Given the description of an element on the screen output the (x, y) to click on. 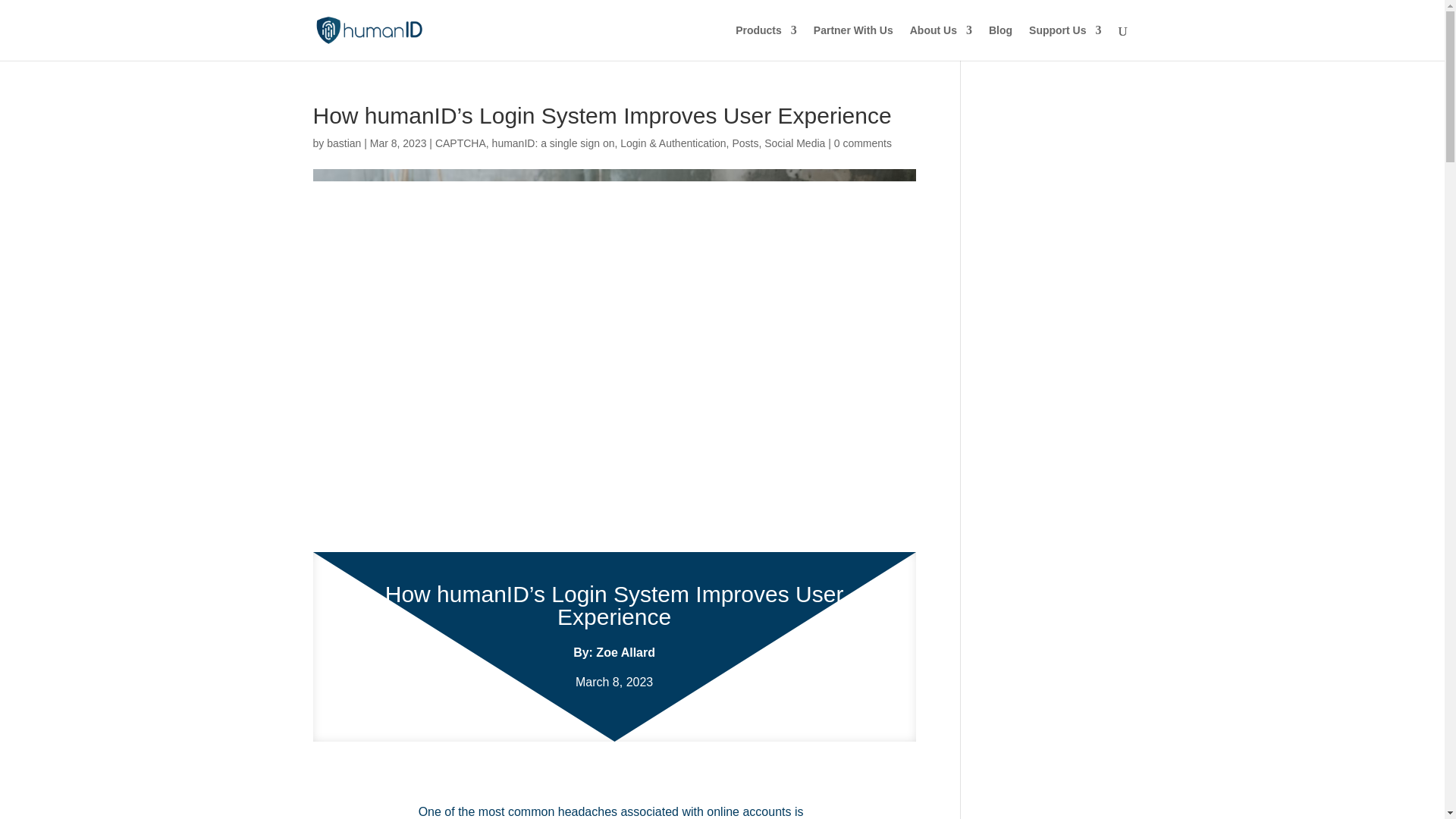
bastian (343, 143)
About Us (941, 42)
Products (765, 42)
humanID: a single sign on (553, 143)
0 comments (862, 143)
Posts (745, 143)
Posts by bastian (343, 143)
Partner With Us (853, 42)
Social Media (794, 143)
CAPTCHA (460, 143)
Support Us (1064, 42)
